Given the description of an element on the screen output the (x, y) to click on. 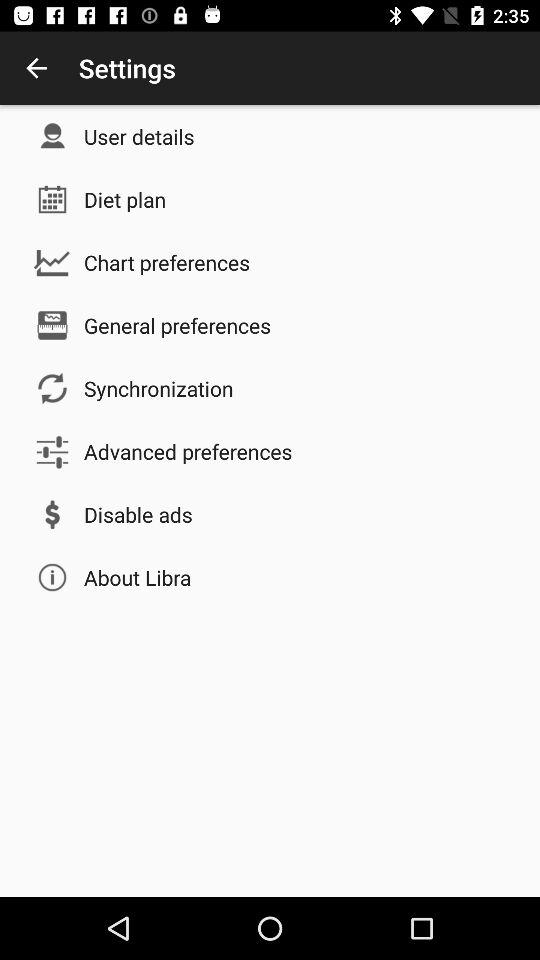
flip to the about libra (137, 577)
